Given the description of an element on the screen output the (x, y) to click on. 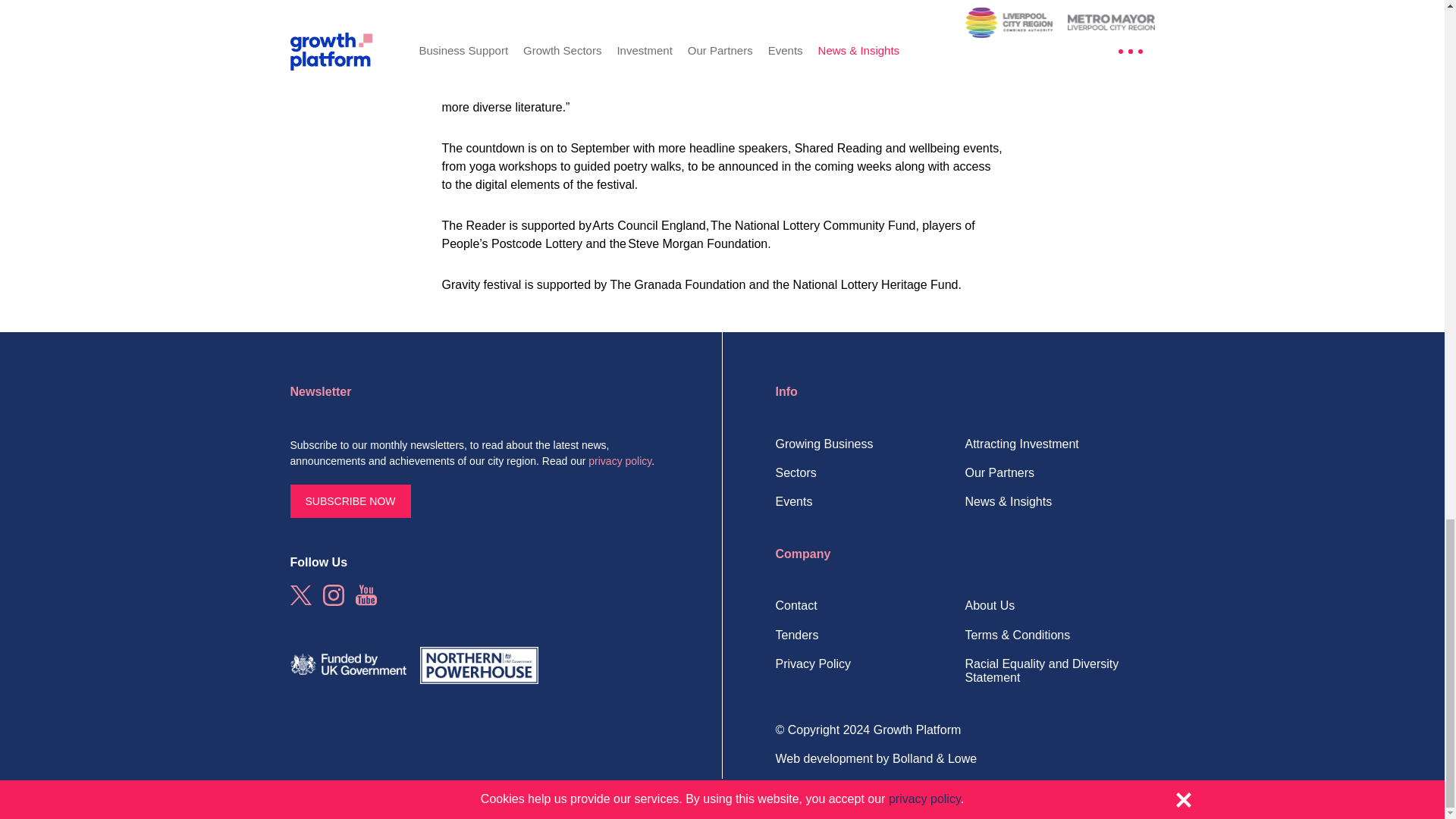
Growth Platform on Instagram (333, 595)
Growth Platform on Twitter (300, 595)
Growth Platform on YouTube (365, 595)
